Given the description of an element on the screen output the (x, y) to click on. 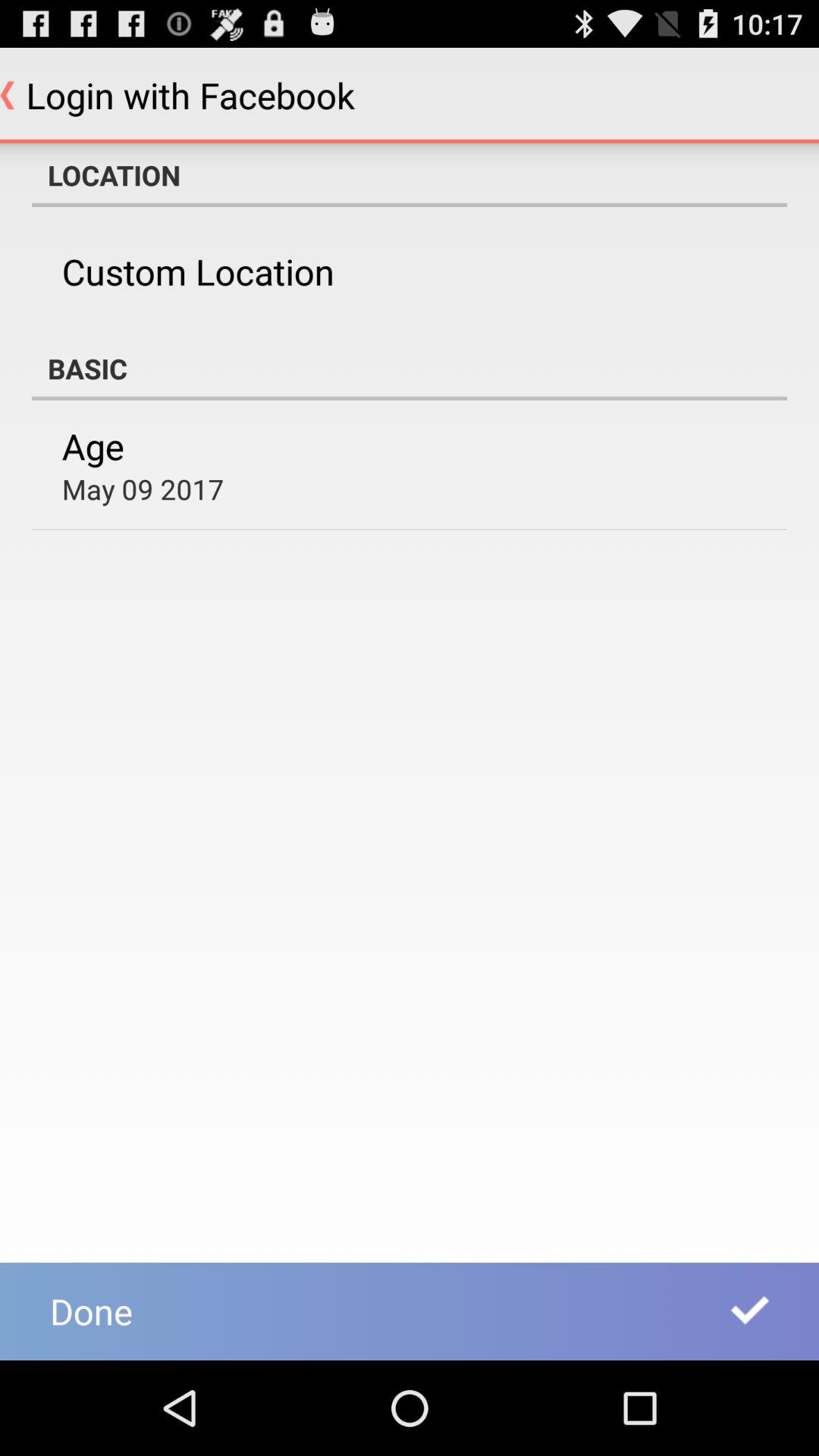
flip until the may 09 2017 item (142, 488)
